Given the description of an element on the screen output the (x, y) to click on. 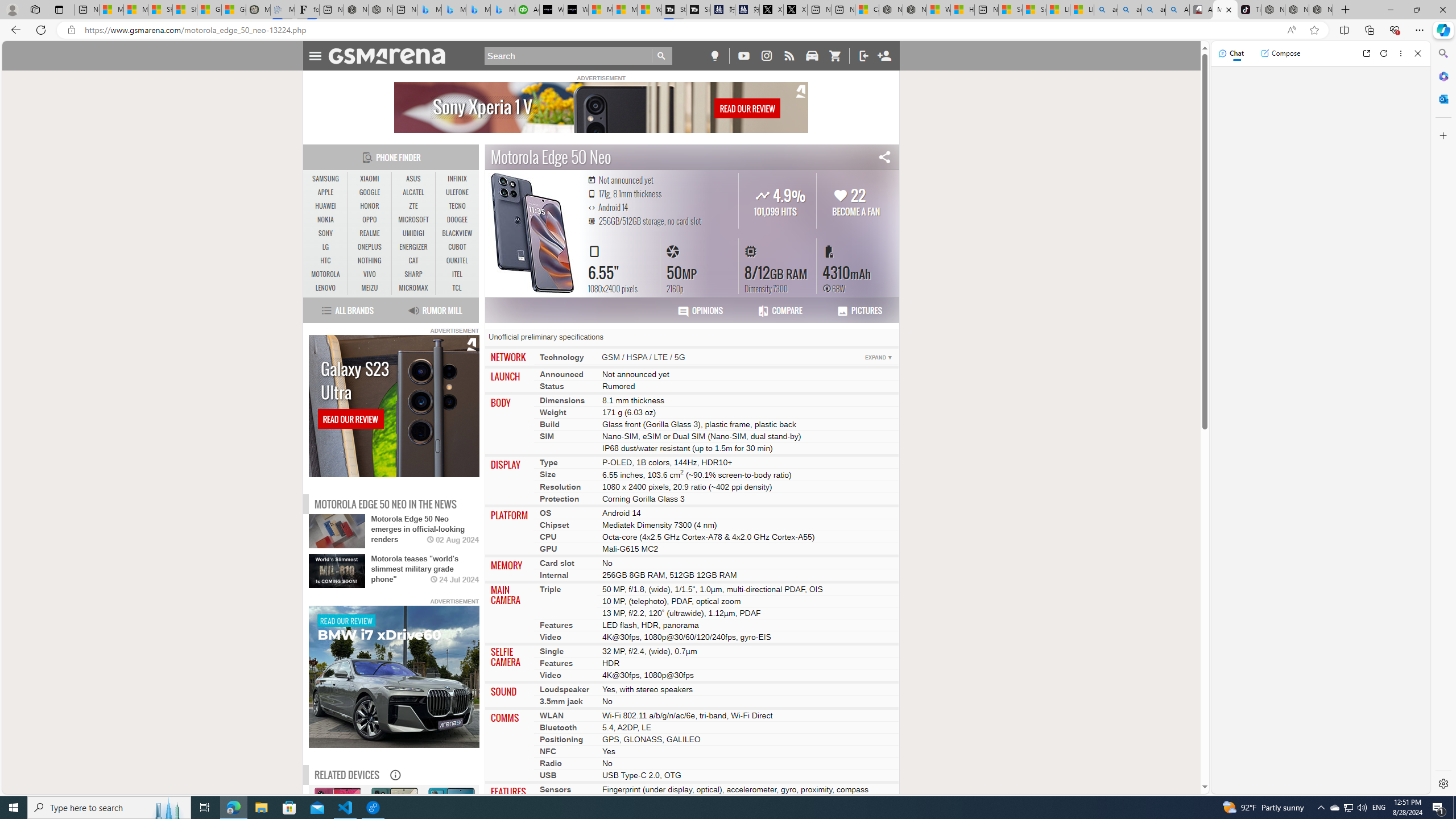
Compose (1280, 52)
REALME (369, 233)
Features (556, 662)
VIVO (369, 273)
UMIDIGI (413, 233)
Outlook (1442, 98)
Nordace - Siena Pro 15 Essential Set (1321, 9)
